Given the description of an element on the screen output the (x, y) to click on. 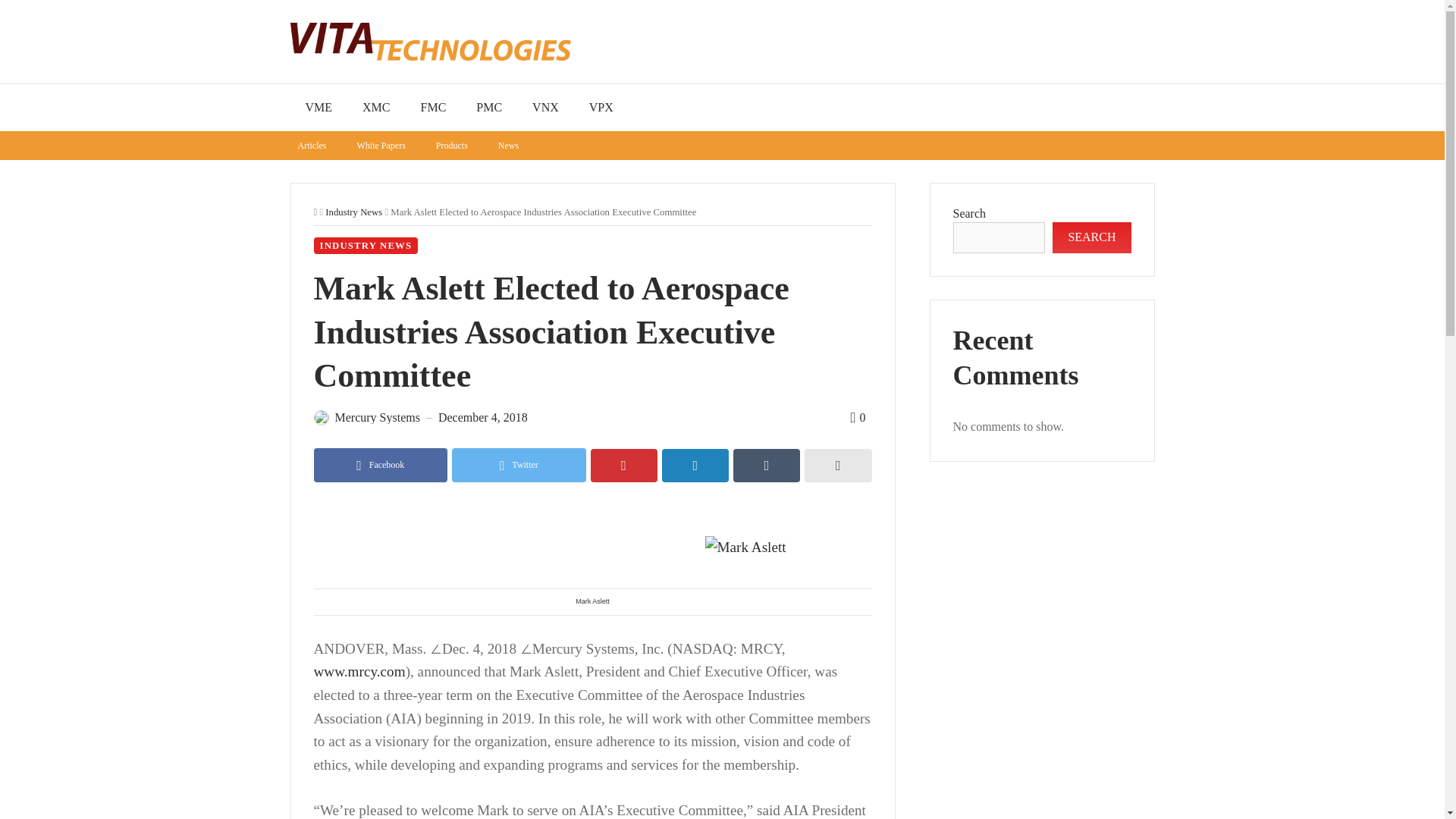
Products (451, 145)
Click to zoom (784, 547)
White Papers (380, 145)
www.mrcy.com (360, 671)
Industry News (352, 212)
VNX (544, 107)
INDUSTRY NEWS (366, 245)
0 (857, 417)
XMC (375, 107)
VME (318, 107)
